Given the description of an element on the screen output the (x, y) to click on. 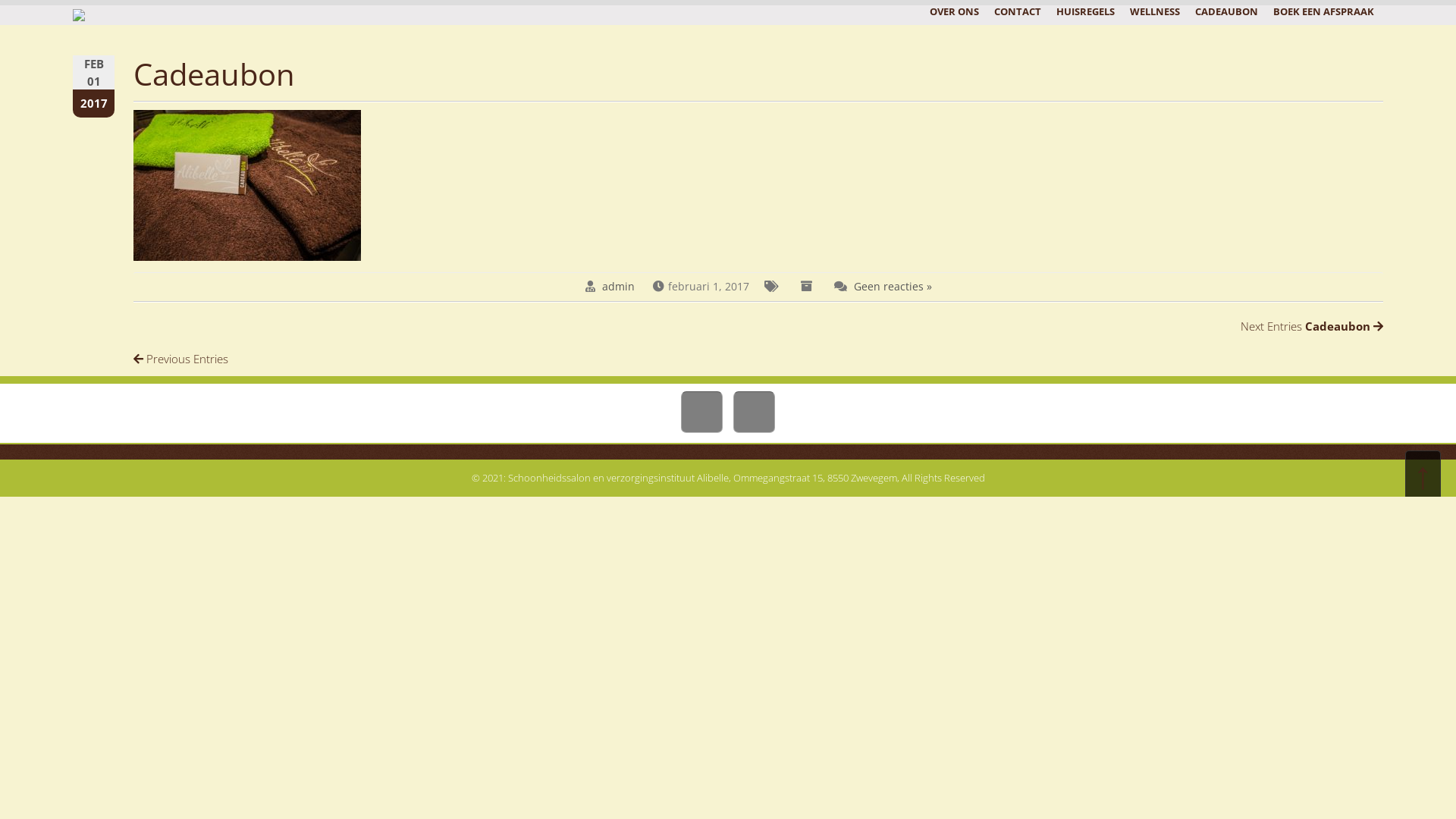
admin Element type: text (618, 286)
Next Entries Cadeaubon Element type: text (1311, 325)
Previous Entries Element type: text (180, 358)
